Given the description of an element on the screen output the (x, y) to click on. 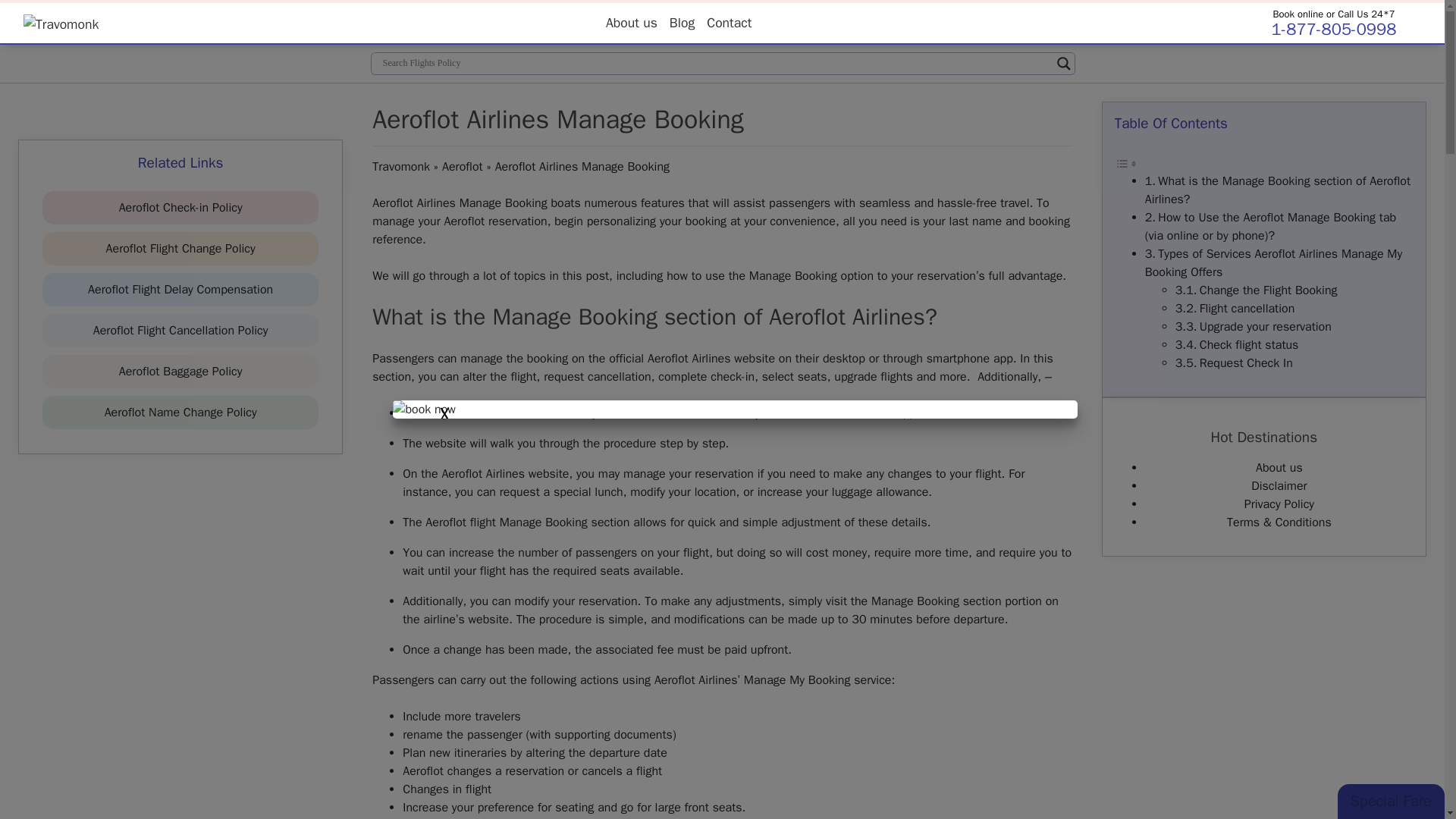
Aeroflot Flight Change Policy (181, 248)
Blog (681, 22)
Aeroflot Baggage Policy (181, 371)
Aeroflot Name Change Policy (180, 412)
Aeroflot Flight Cancellation Policy (180, 330)
Blog (681, 22)
1-877-805-0998 (1333, 29)
Travomonk (400, 166)
About us (631, 22)
Aeroflot Check-in Policy (181, 207)
